Given the description of an element on the screen output the (x, y) to click on. 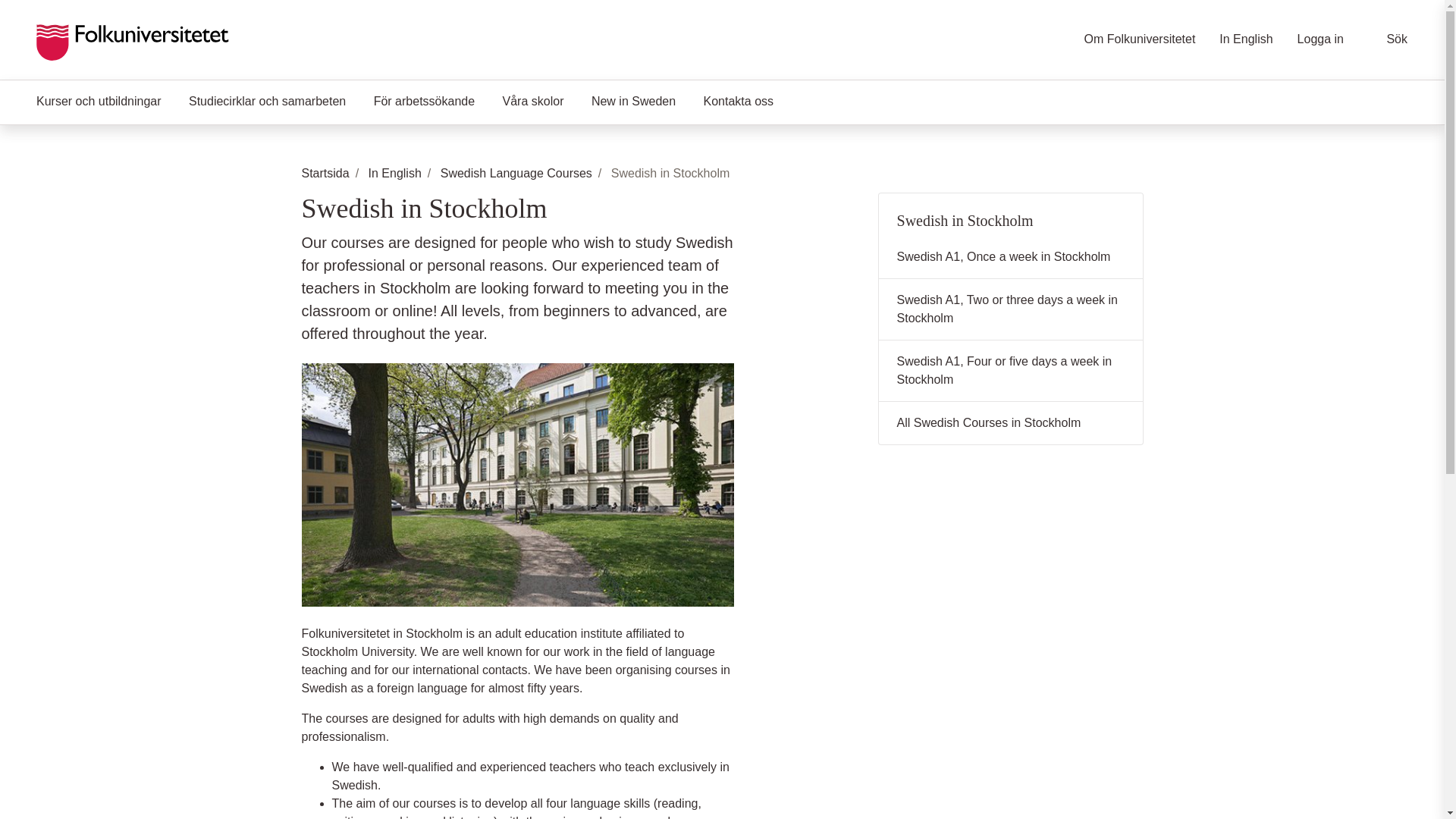
Studiecirklar och samarbeten (267, 102)
Logga in (1320, 39)
Startsida (325, 173)
Swedish in Stockholm (1010, 214)
Swedish Language Courses (516, 173)
Swedish A1, Two or three days a week in Stockholm (1010, 309)
Kontakta oss (738, 102)
Om Folkuniversitetet (1139, 39)
Kurser och utbildningar (98, 102)
In English (395, 173)
Swedish A1, Once a week in Stockholm (1010, 257)
Swedish A1, Four or five days a week in Stockholm (1010, 371)
In English (1246, 39)
All Swedish Courses in Stockholm (1010, 423)
New in Sweden (633, 102)
